Given the description of an element on the screen output the (x, y) to click on. 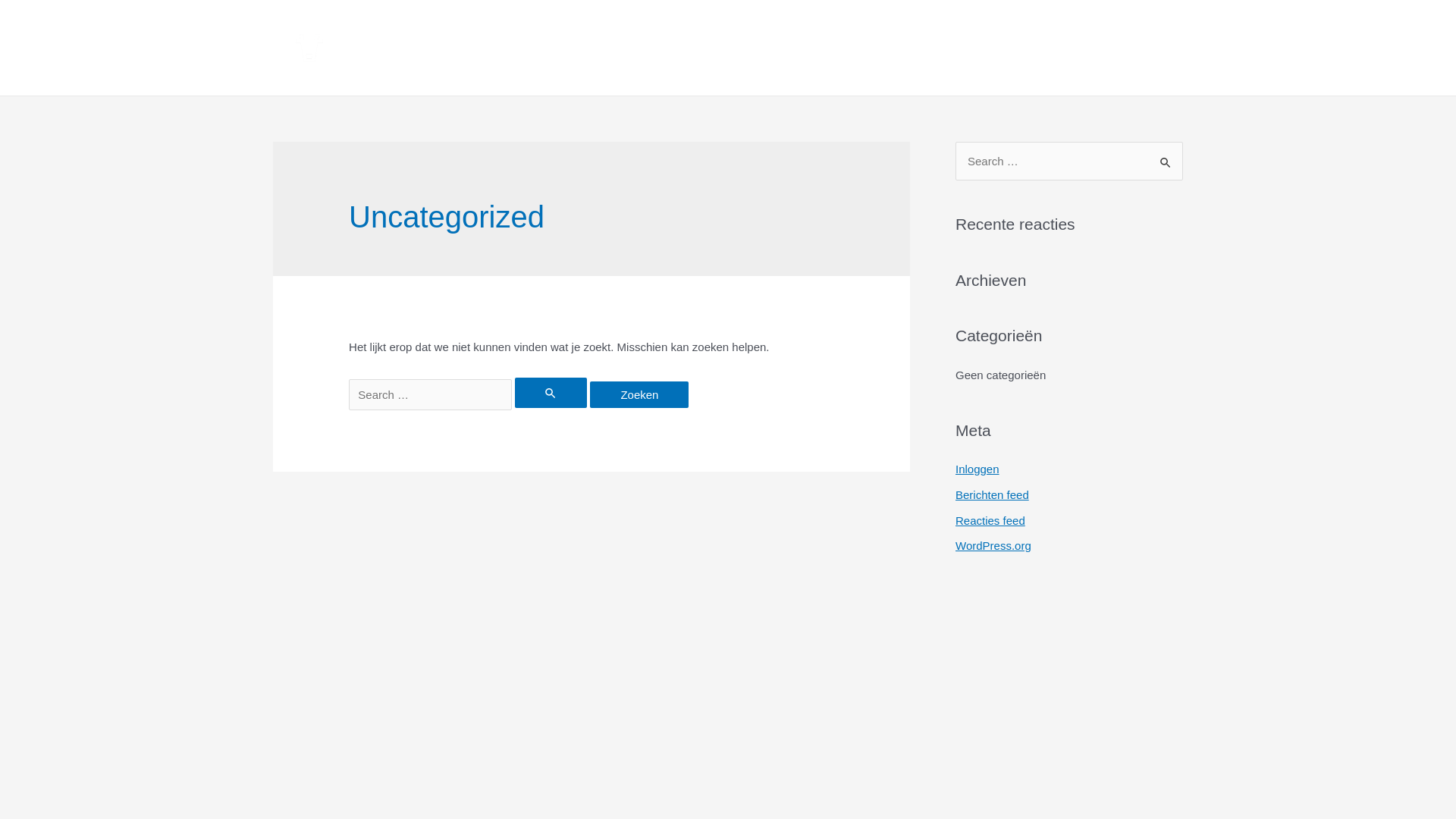
Zoeken Element type: text (1165, 156)
Inloggen Element type: text (977, 468)
Berichten feed Element type: text (992, 494)
Food&Drinks Element type: text (660, 47)
Over ons Element type: text (933, 47)
Contact Element type: text (1133, 47)
Locatie Element type: text (1035, 47)
Reacties feed Element type: text (990, 520)
WordPress.org Element type: text (993, 545)
Meeting room Element type: text (804, 47)
Kamers Element type: text (539, 47)
Zoeken Element type: text (638, 394)
